Given the description of an element on the screen output the (x, y) to click on. 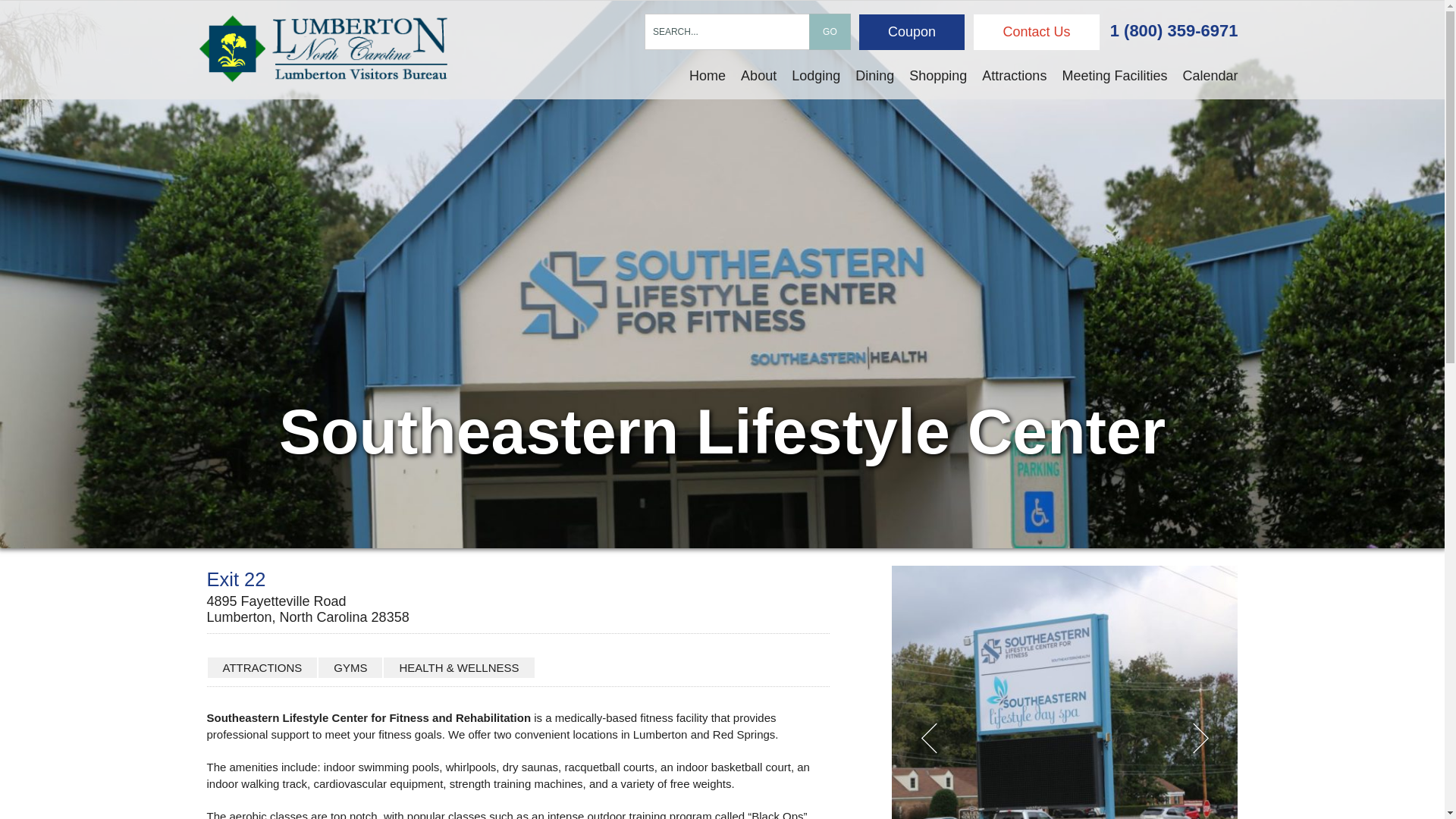
Shopping (937, 75)
Meeting Facilities (1114, 75)
Dining (874, 75)
Coupon (911, 31)
Attractions (1014, 75)
GO (829, 31)
Home (707, 75)
Calendar (1209, 75)
Contact Us (1036, 31)
About (758, 75)
GO (829, 31)
SEARCH... (727, 31)
Lodging (815, 75)
